Given the description of an element on the screen output the (x, y) to click on. 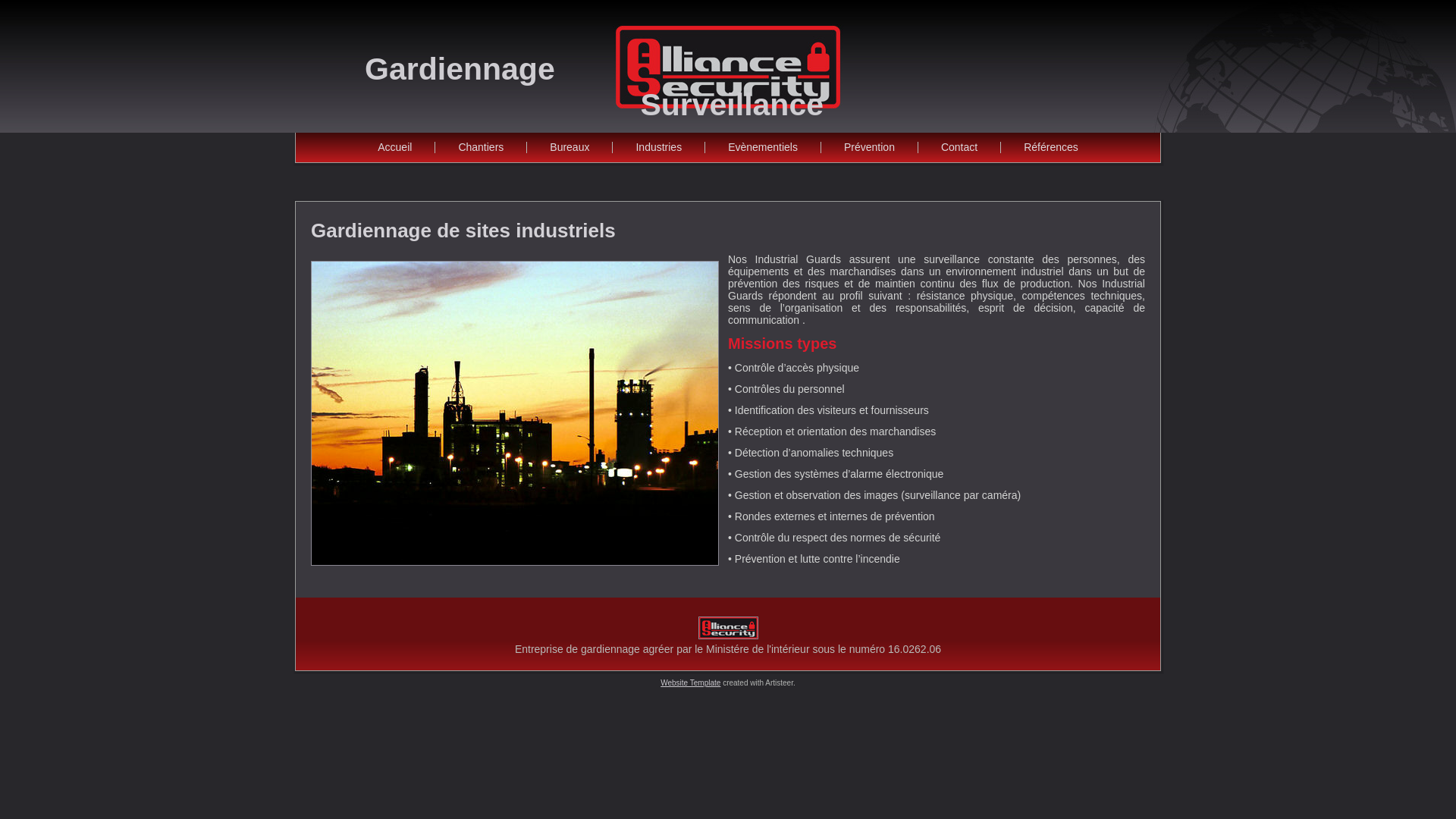
Bureaux Element type: text (569, 147)
Website Template Element type: text (690, 682)
Accueil Element type: text (394, 147)
Industries Element type: text (658, 147)
Chantiers Element type: text (480, 147)
Contact Element type: text (959, 147)
